Given the description of an element on the screen output the (x, y) to click on. 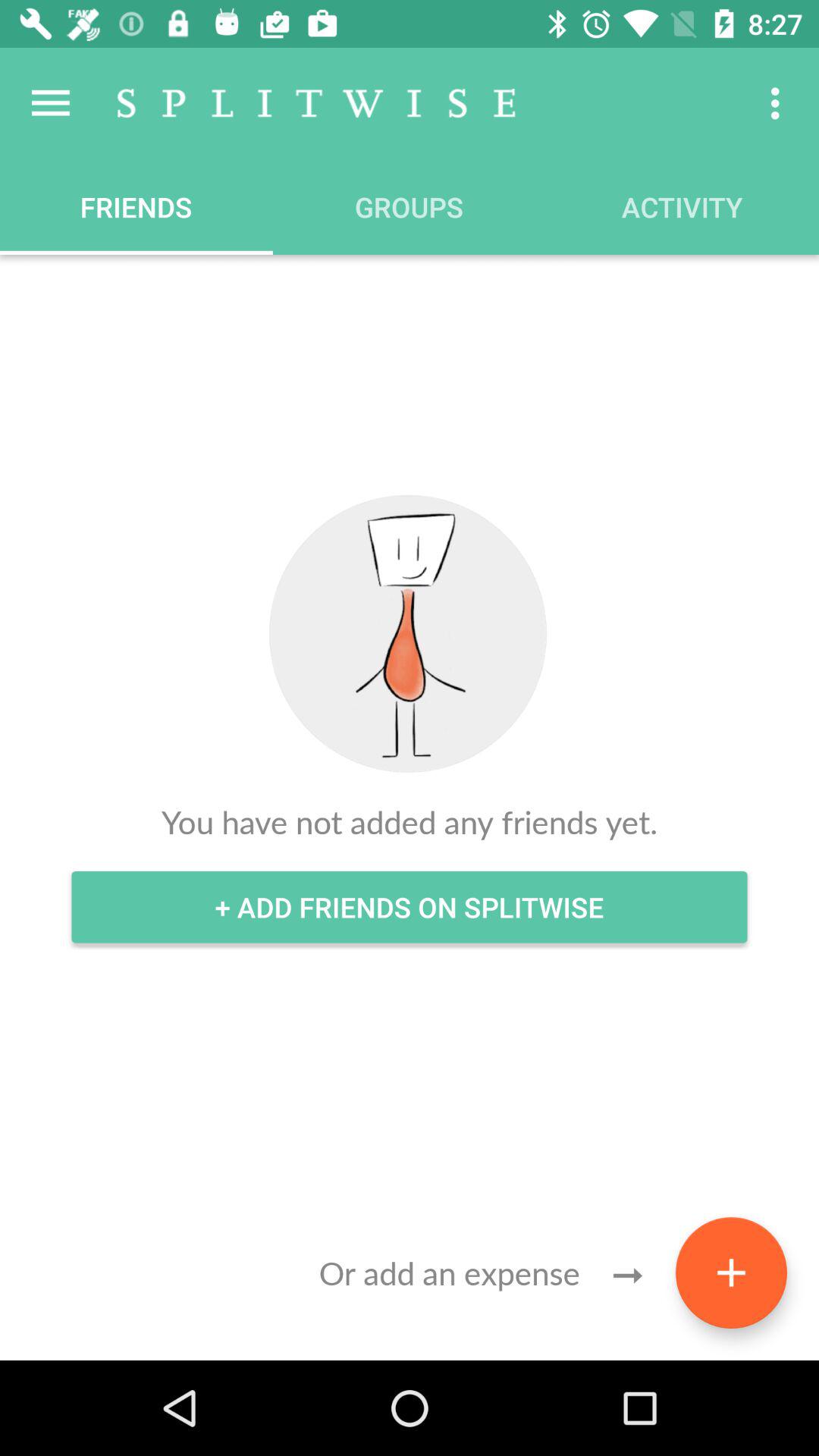
launch add friends on item (409, 906)
